Given the description of an element on the screen output the (x, y) to click on. 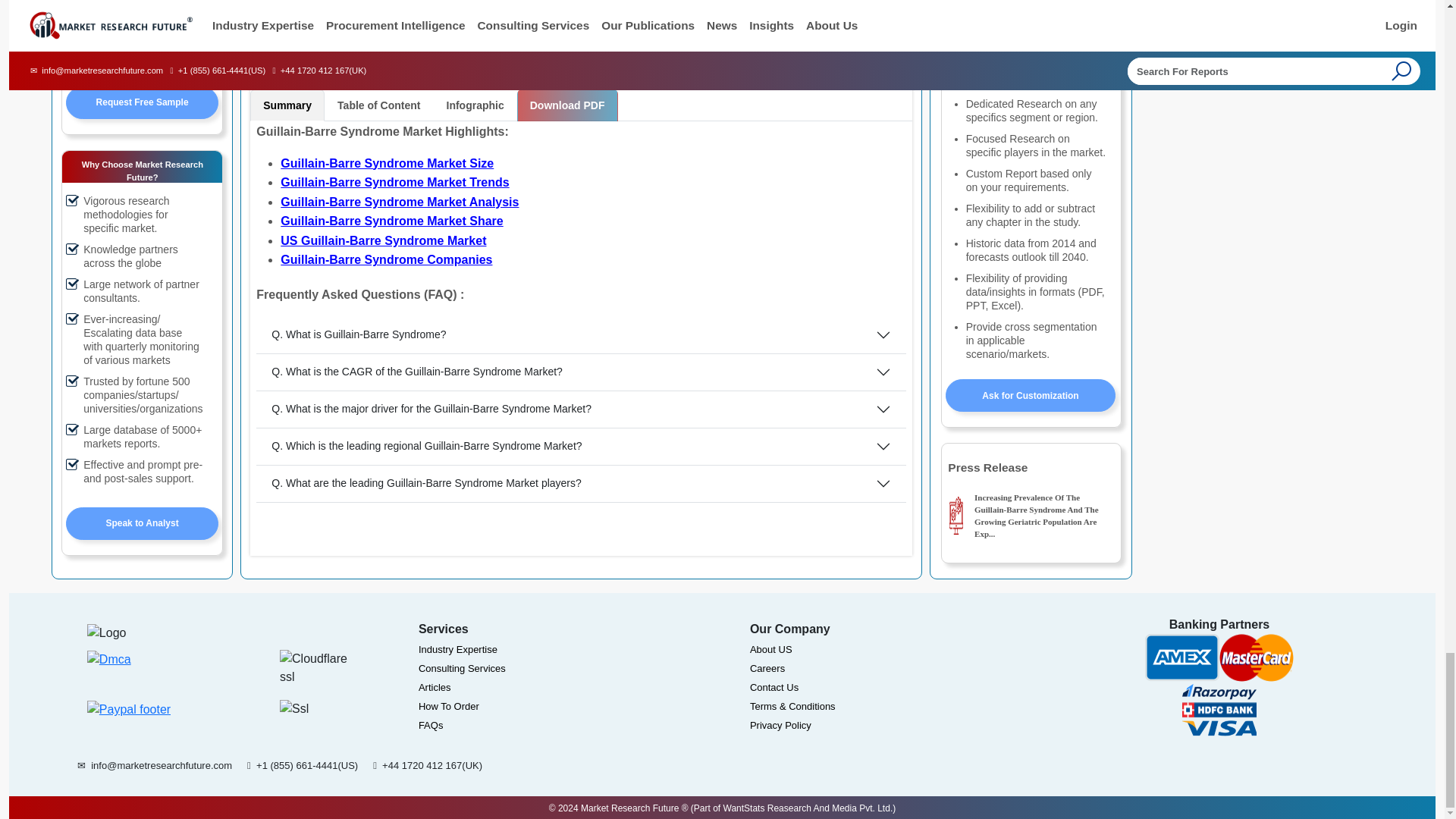
DMCA.com Protection Status (109, 671)
How PayPal Works (128, 714)
